Given the description of an element on the screen output the (x, y) to click on. 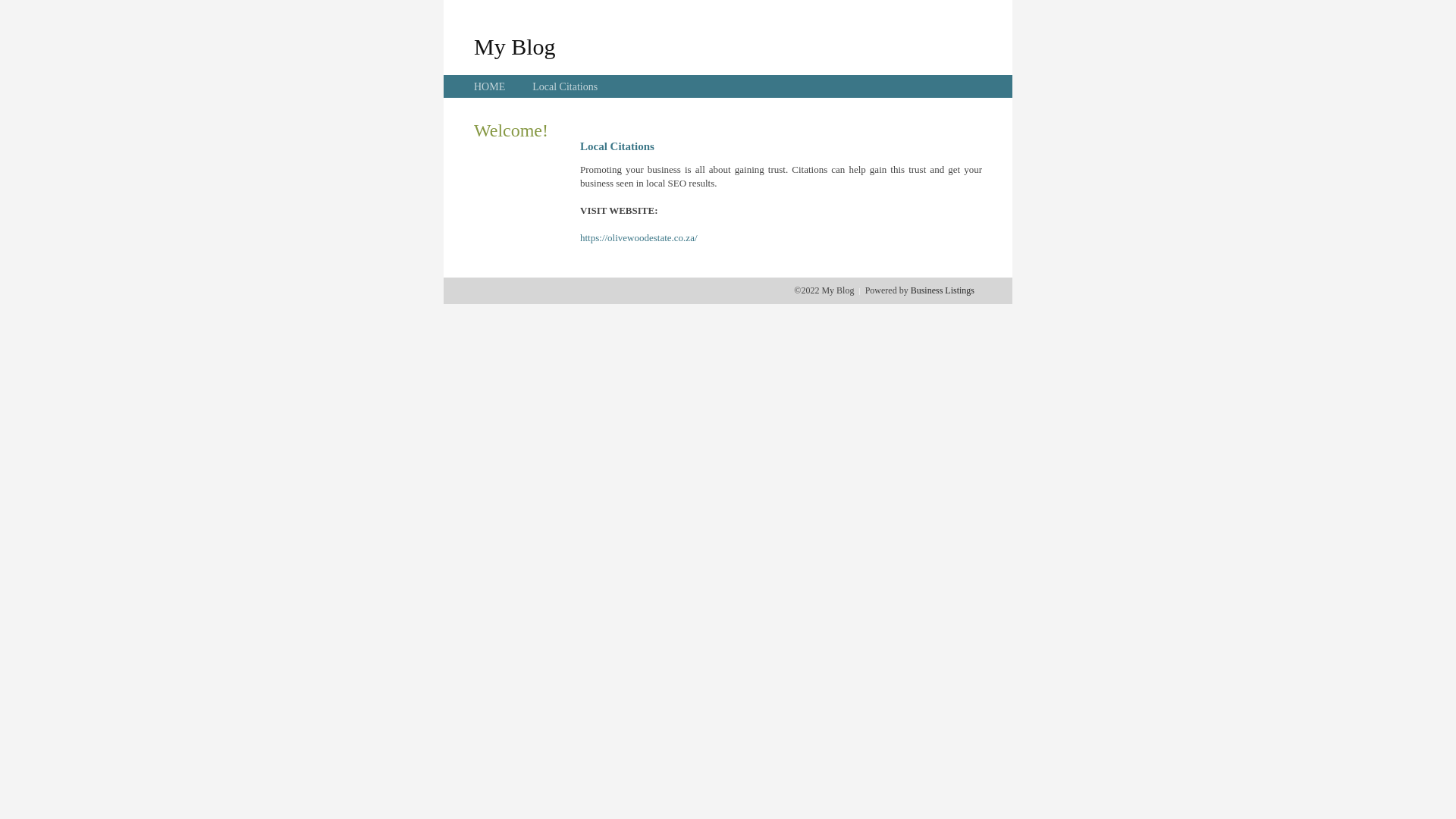
Local Citations Element type: text (564, 86)
HOME Element type: text (489, 86)
https://olivewoodestate.co.za/ Element type: text (638, 237)
Business Listings Element type: text (942, 290)
My Blog Element type: text (514, 46)
